Given the description of an element on the screen output the (x, y) to click on. 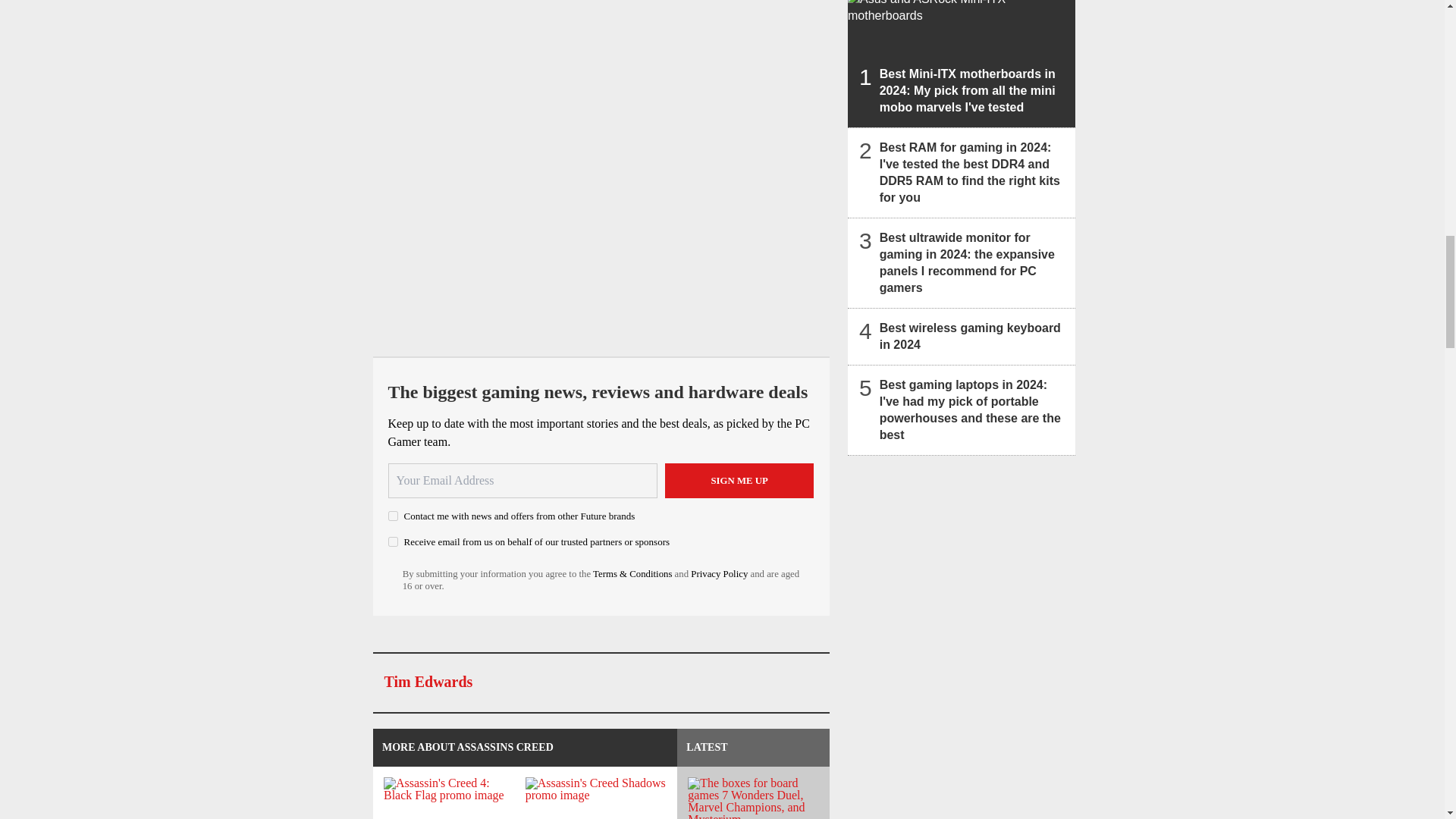
Sign me up (739, 480)
on (392, 515)
on (392, 542)
